Given the description of an element on the screen output the (x, y) to click on. 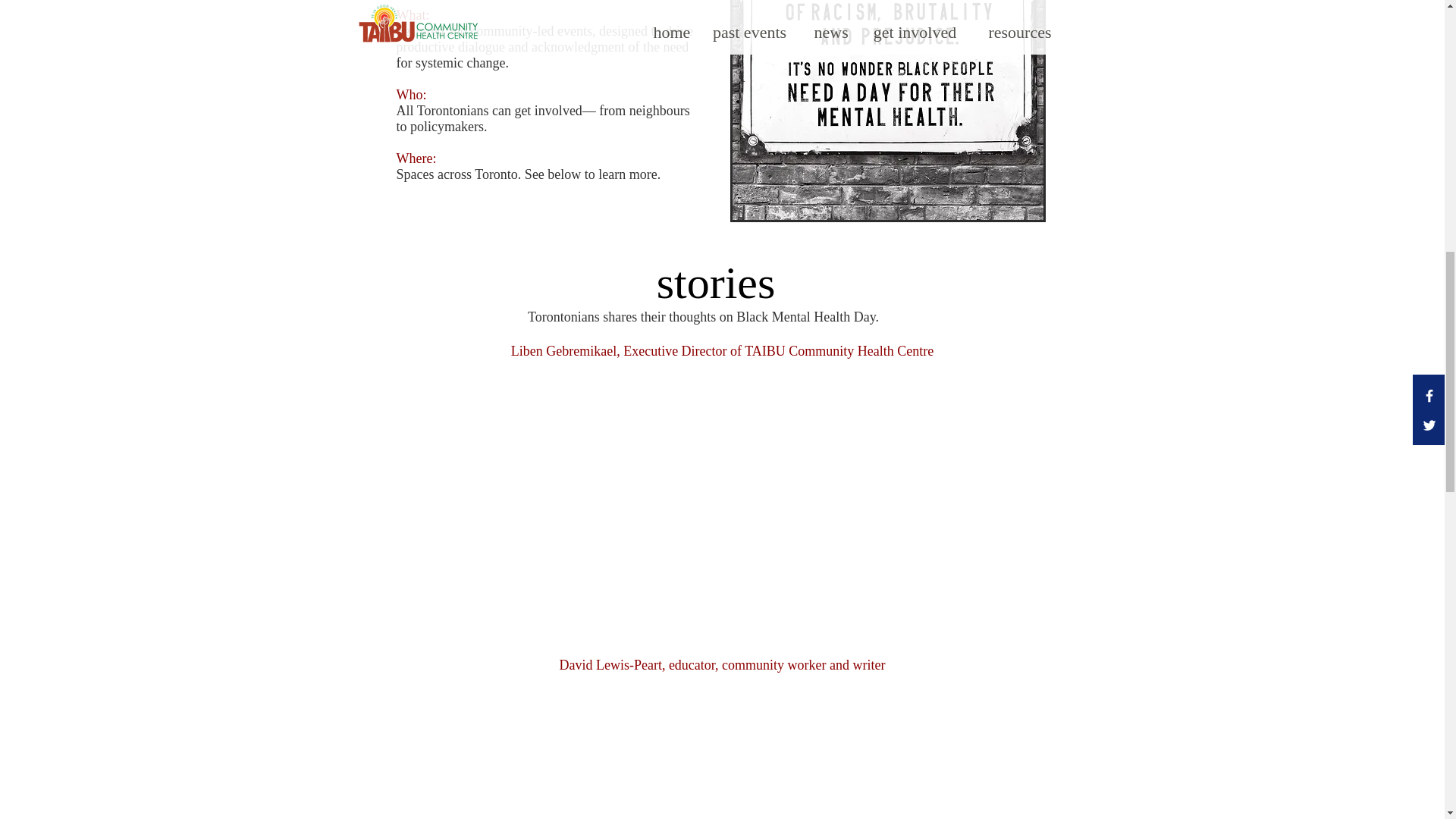
Embedded Content (722, 496)
Embedded Content (722, 753)
